Given the description of an element on the screen output the (x, y) to click on. 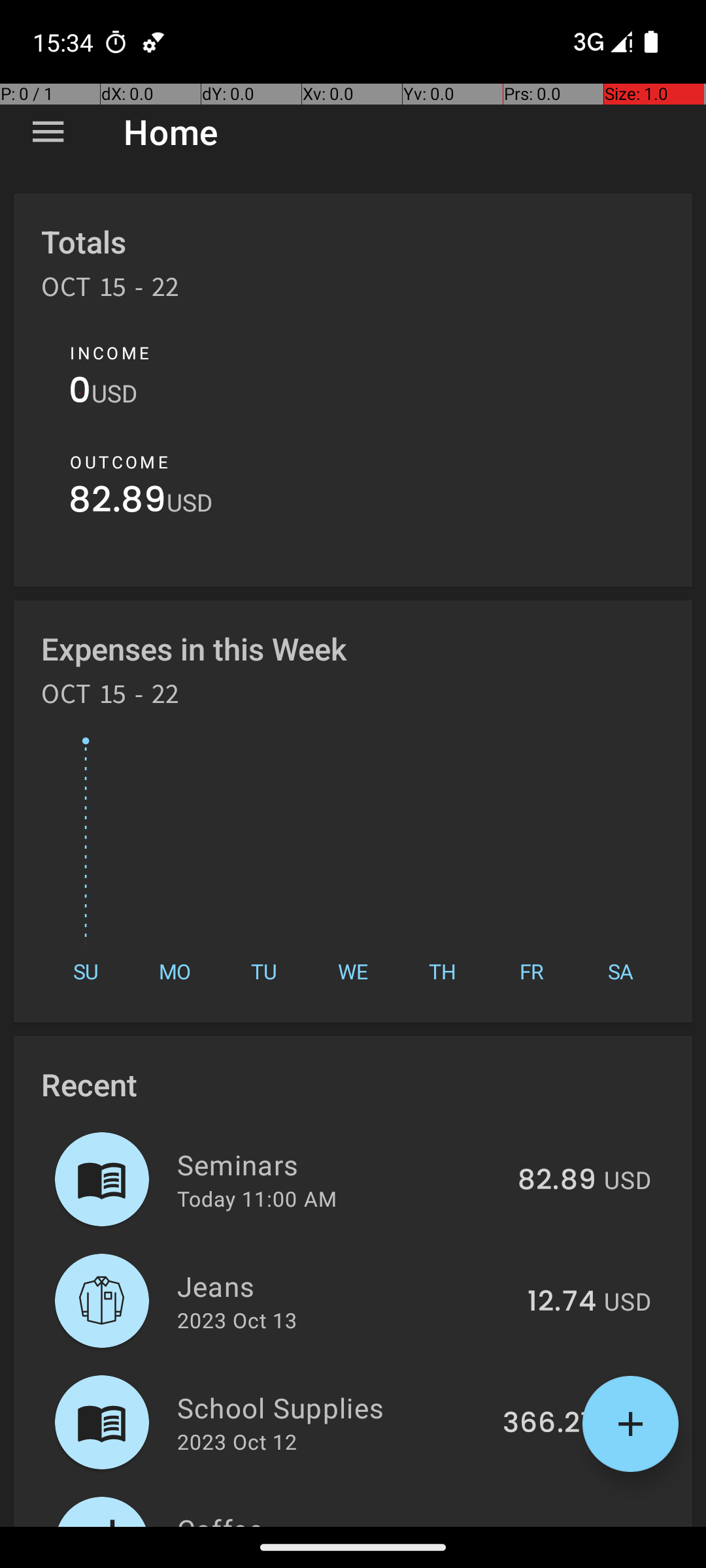
82.89 Element type: android.widget.TextView (117, 502)
Today 11:00 AM Element type: android.widget.TextView (256, 1198)
Jeans Element type: android.widget.TextView (344, 1285)
12.74 Element type: android.widget.TextView (561, 1301)
School Supplies Element type: android.widget.TextView (332, 1407)
366.27 Element type: android.widget.TextView (549, 1423)
411.97 Element type: android.widget.TextView (555, 1524)
